Given the description of an element on the screen output the (x, y) to click on. 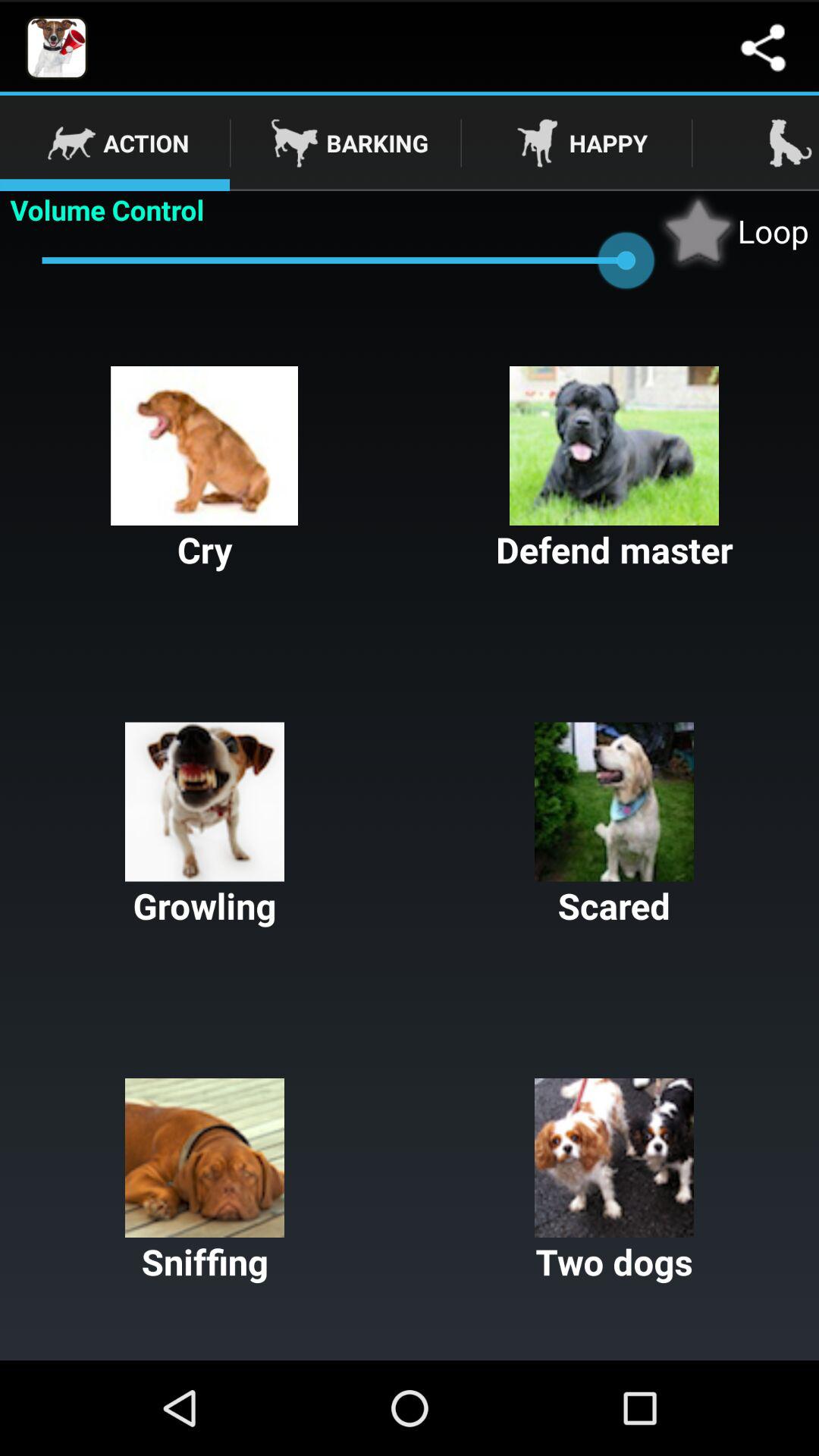
turn on the item next to sniffing (614, 1181)
